Given the description of an element on the screen output the (x, y) to click on. 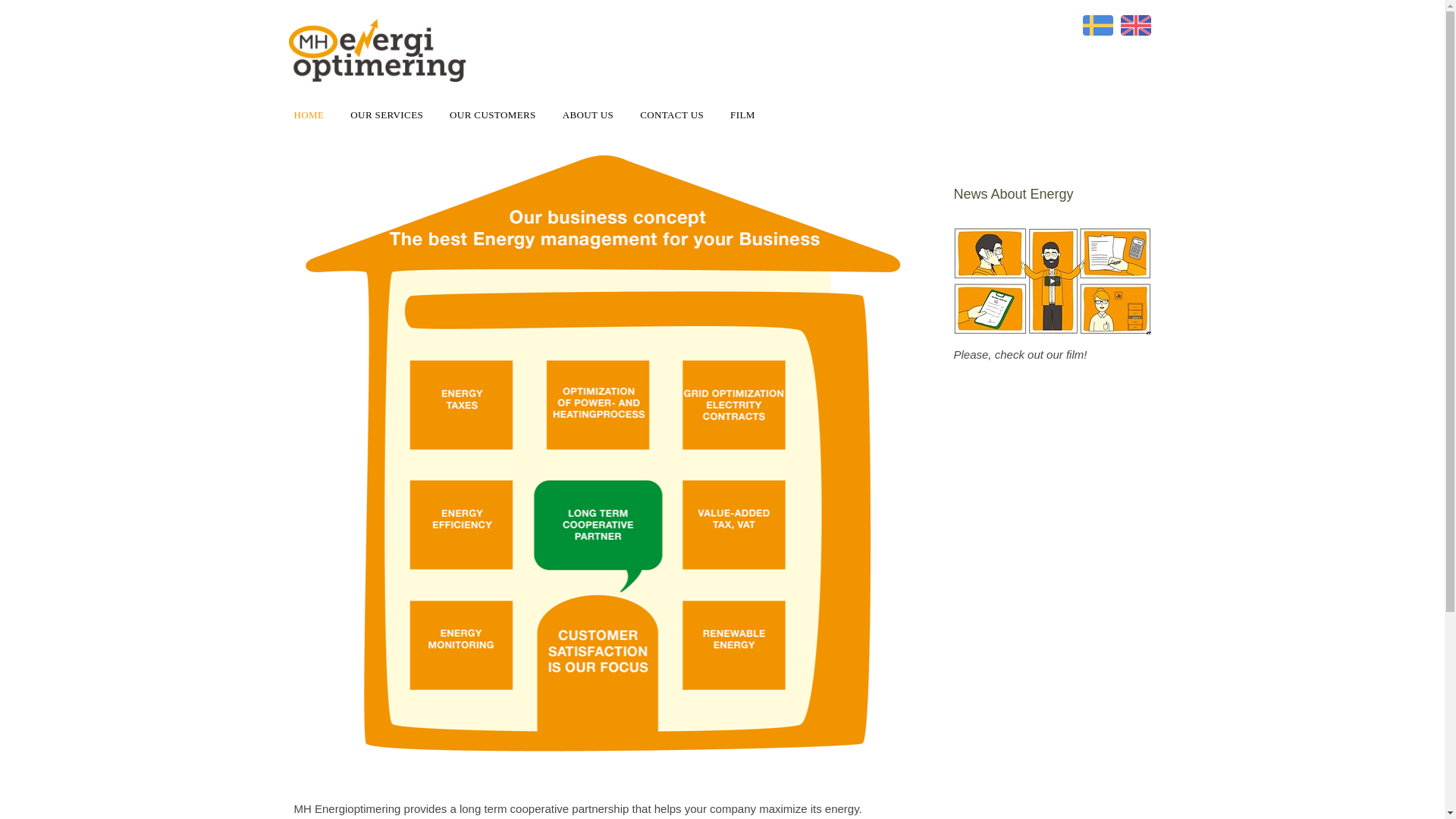
OUR CUSTOMERS (501, 114)
OUR SERVICES (396, 114)
ABOUT US (597, 114)
CONTACT US (681, 114)
HOME (318, 114)
FILM (752, 114)
